Given the description of an element on the screen output the (x, y) to click on. 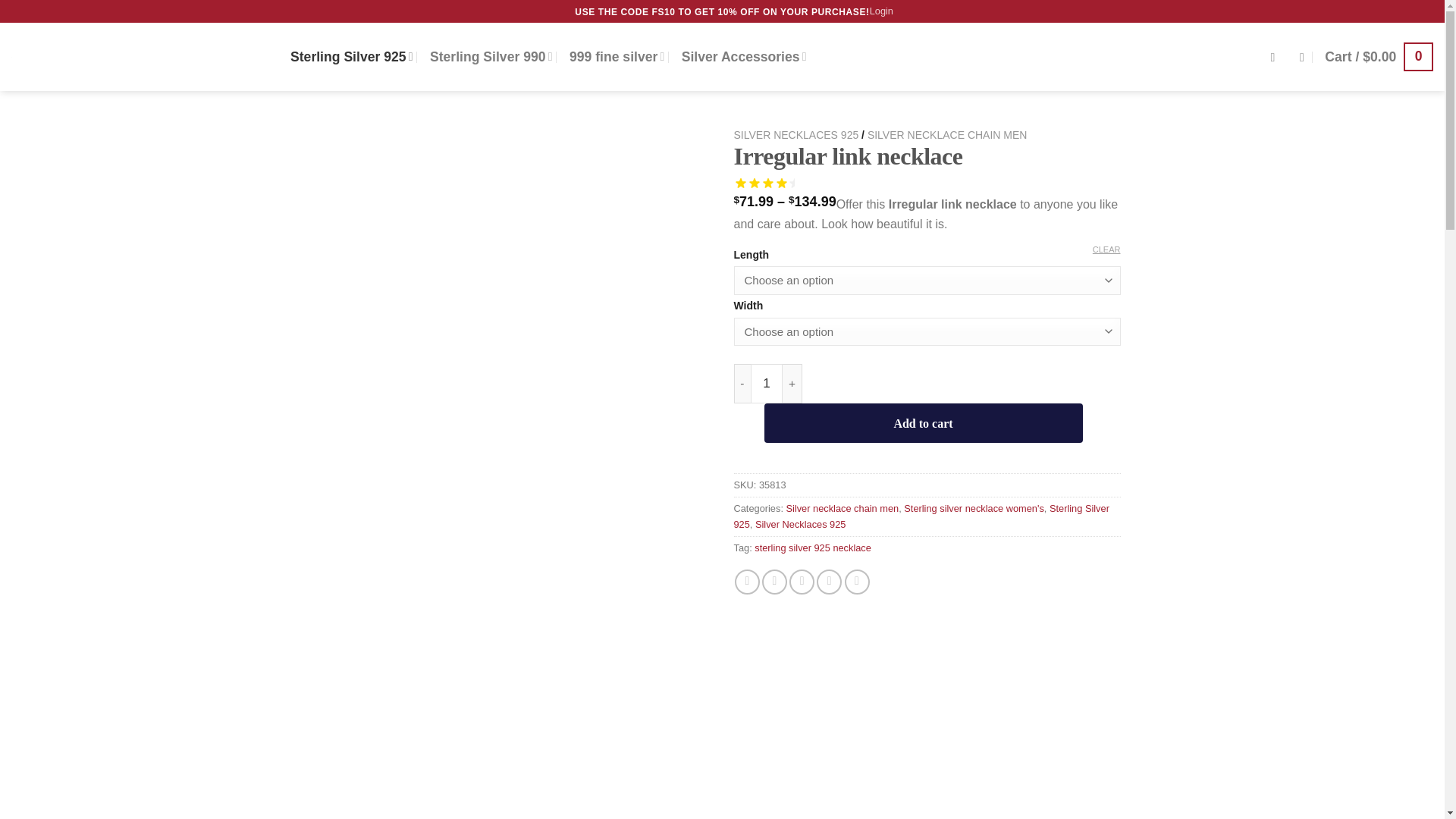
Email to a Friend (801, 581)
Share on LinkedIn (856, 581)
Silver Accessories (743, 56)
Sterling Silver 925 (351, 56)
Login (881, 11)
Share on Twitter (774, 581)
Share on Facebook (747, 581)
Sterling Silver 990 (491, 56)
Cart (1378, 56)
Pin on Pinterest (828, 581)
